Given the description of an element on the screen output the (x, y) to click on. 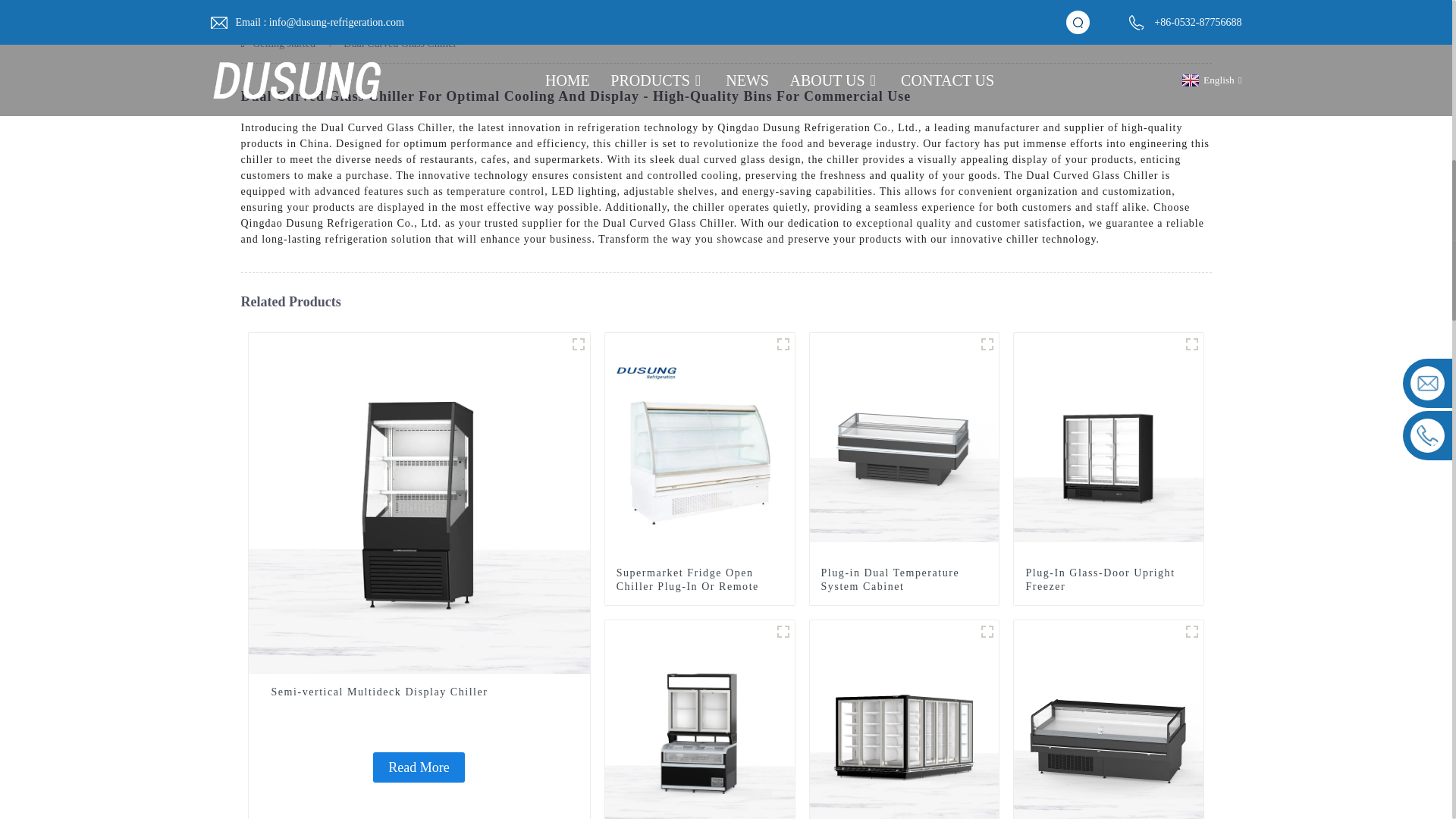
Plug-In Glass-Door Upright Freezer (1108, 579)
Remote Glass-Door Upright Freezer (903, 733)
Multi Deck Display Chiller (578, 343)
Supermarket Fridge Open Chiller Plug-In Or Remote (699, 579)
Small Freezer combination for convenient store (699, 733)
Dual Curved Glass Chiller (400, 43)
Plug-In Glass-Door Upright Freezer (1192, 343)
Plug-in Dual Temperature System Cabinet (986, 343)
Semi-vertical Multideck Display Chiller (418, 767)
Plug-in Dual Temperature System Cabinet (904, 579)
